Given the description of an element on the screen output the (x, y) to click on. 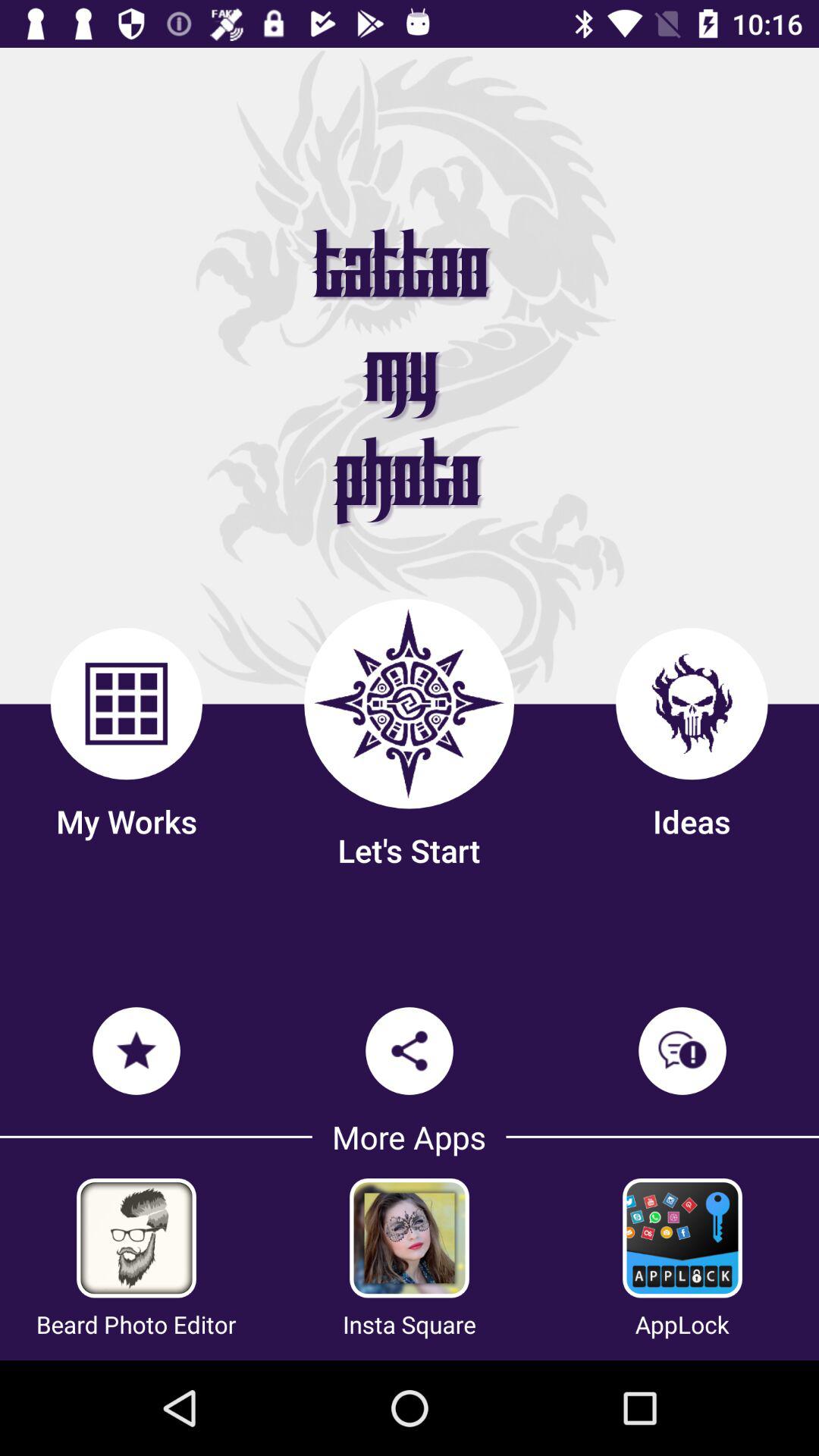
insta square app (409, 1237)
